Given the description of an element on the screen output the (x, y) to click on. 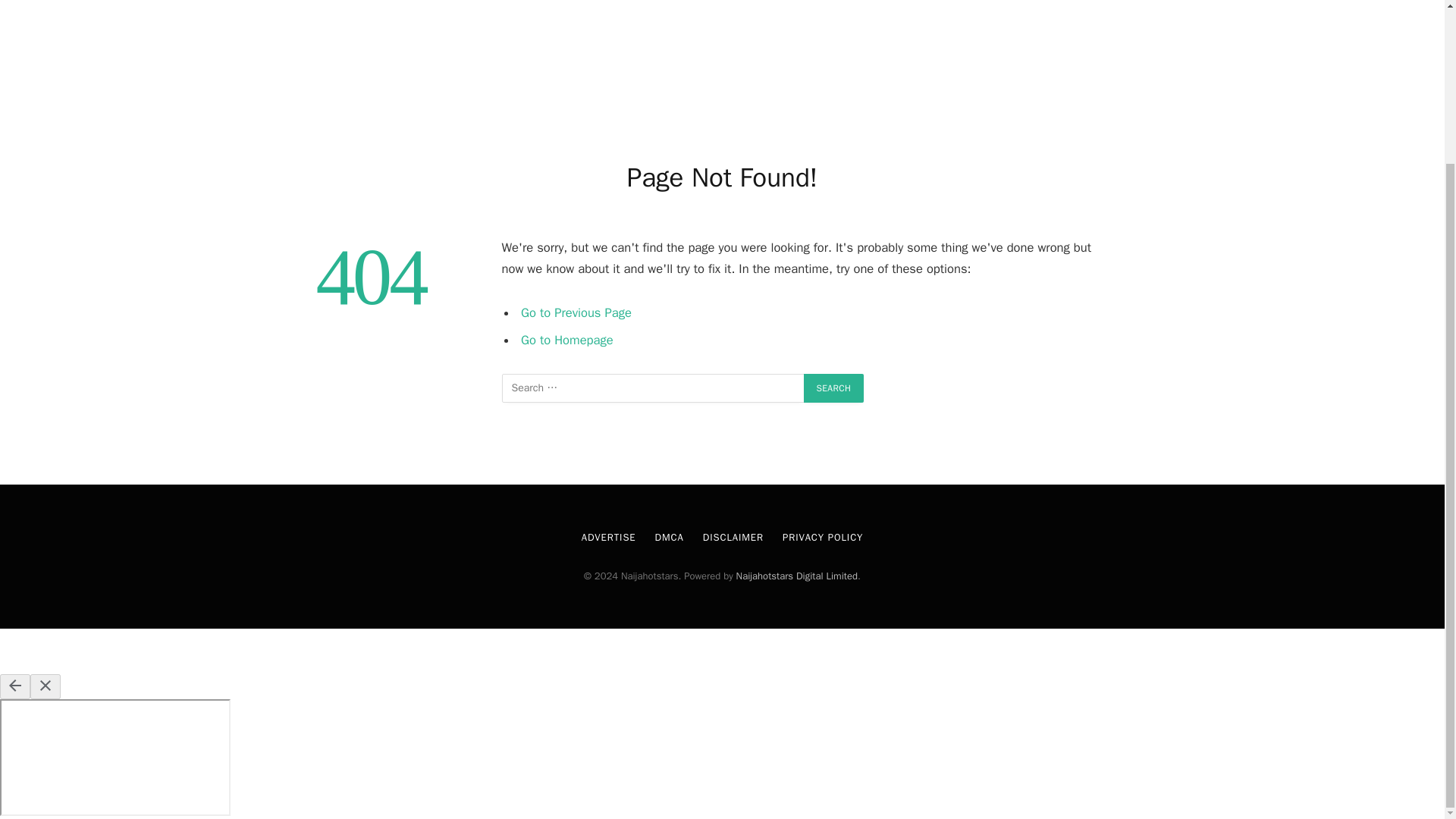
DISCLAIMER (732, 536)
ADVERTISE (608, 536)
Search (833, 387)
Go to Previous Page (576, 312)
DMCA (669, 536)
Search (833, 387)
Advertisement (721, 64)
Go to Homepage (566, 339)
Search (833, 387)
